Given the description of an element on the screen output the (x, y) to click on. 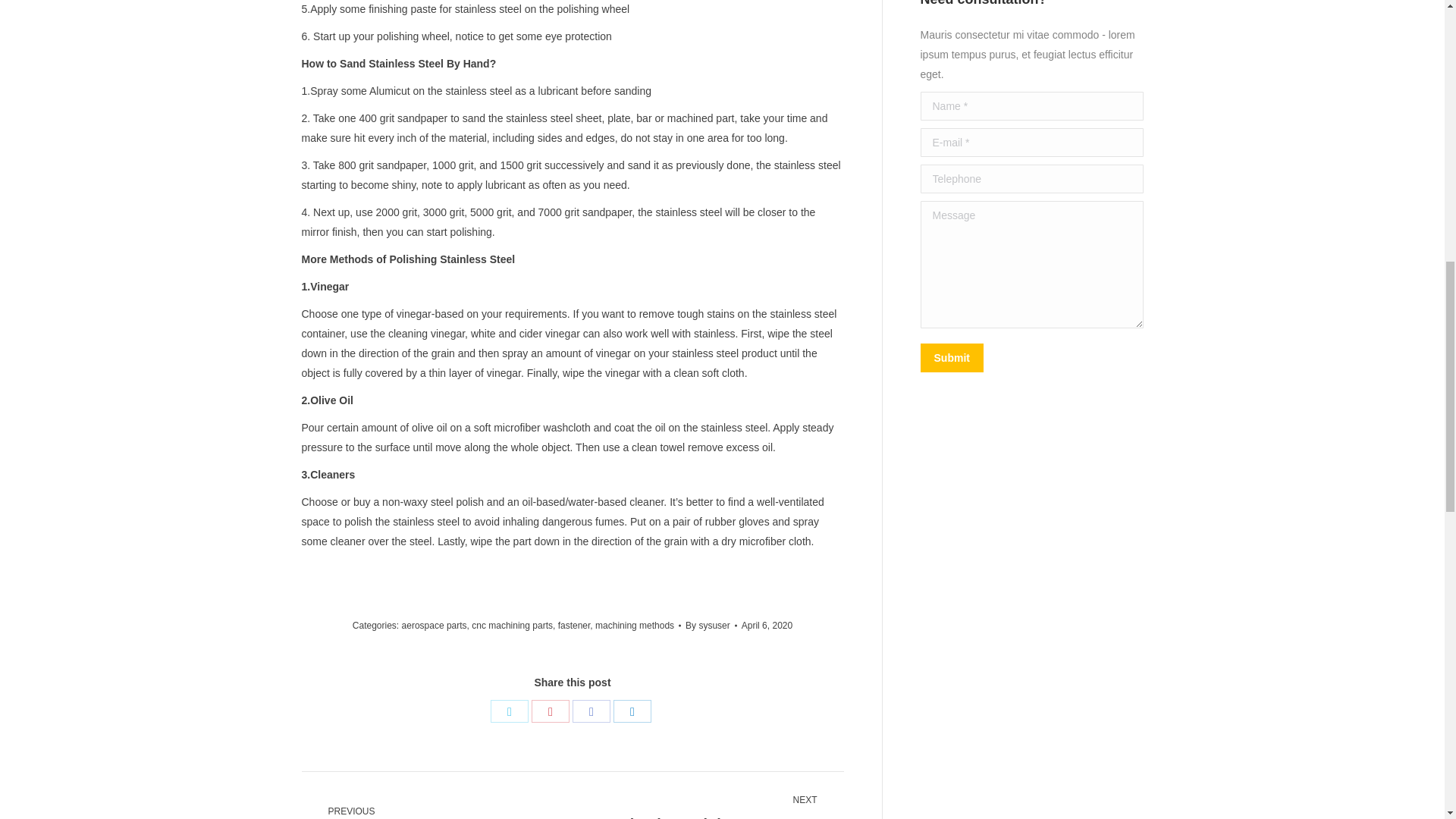
Pinterest (550, 711)
aerospace parts (434, 624)
fastener (574, 624)
submit (1024, 359)
April 6, 2020 (766, 625)
Facebook (591, 711)
View all posts by sysuser (710, 625)
Share on Twitter (509, 711)
machining methods (634, 624)
Twitter (509, 711)
By sysuser (710, 625)
cnc machining parts (512, 624)
6:52 am (766, 625)
Share on LinkedIn (631, 711)
Share on Facebook (591, 711)
